Given the description of an element on the screen output the (x, y) to click on. 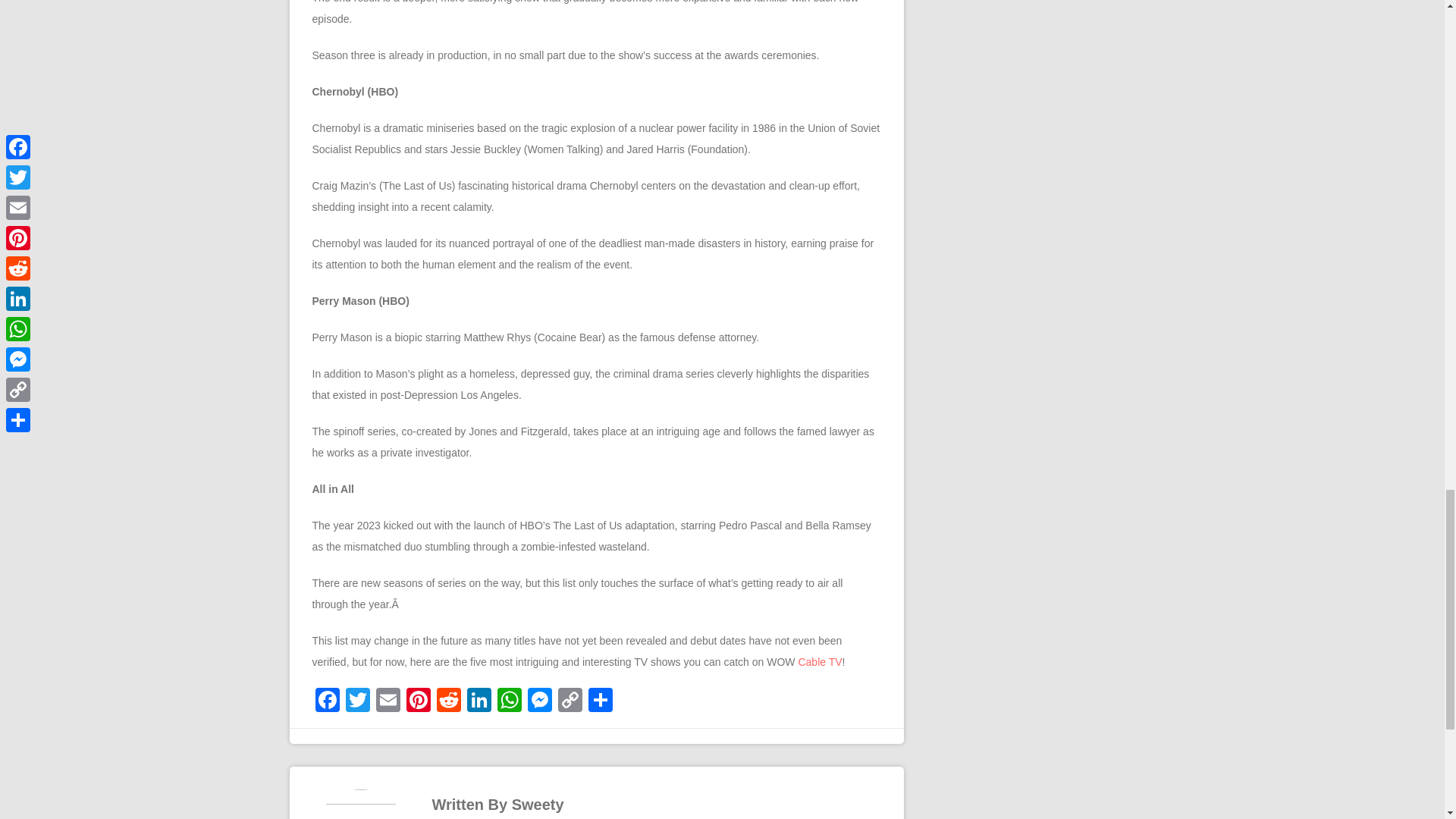
Facebook (327, 701)
Pinterest (418, 701)
Twitter (357, 701)
Email (387, 701)
